Given the description of an element on the screen output the (x, y) to click on. 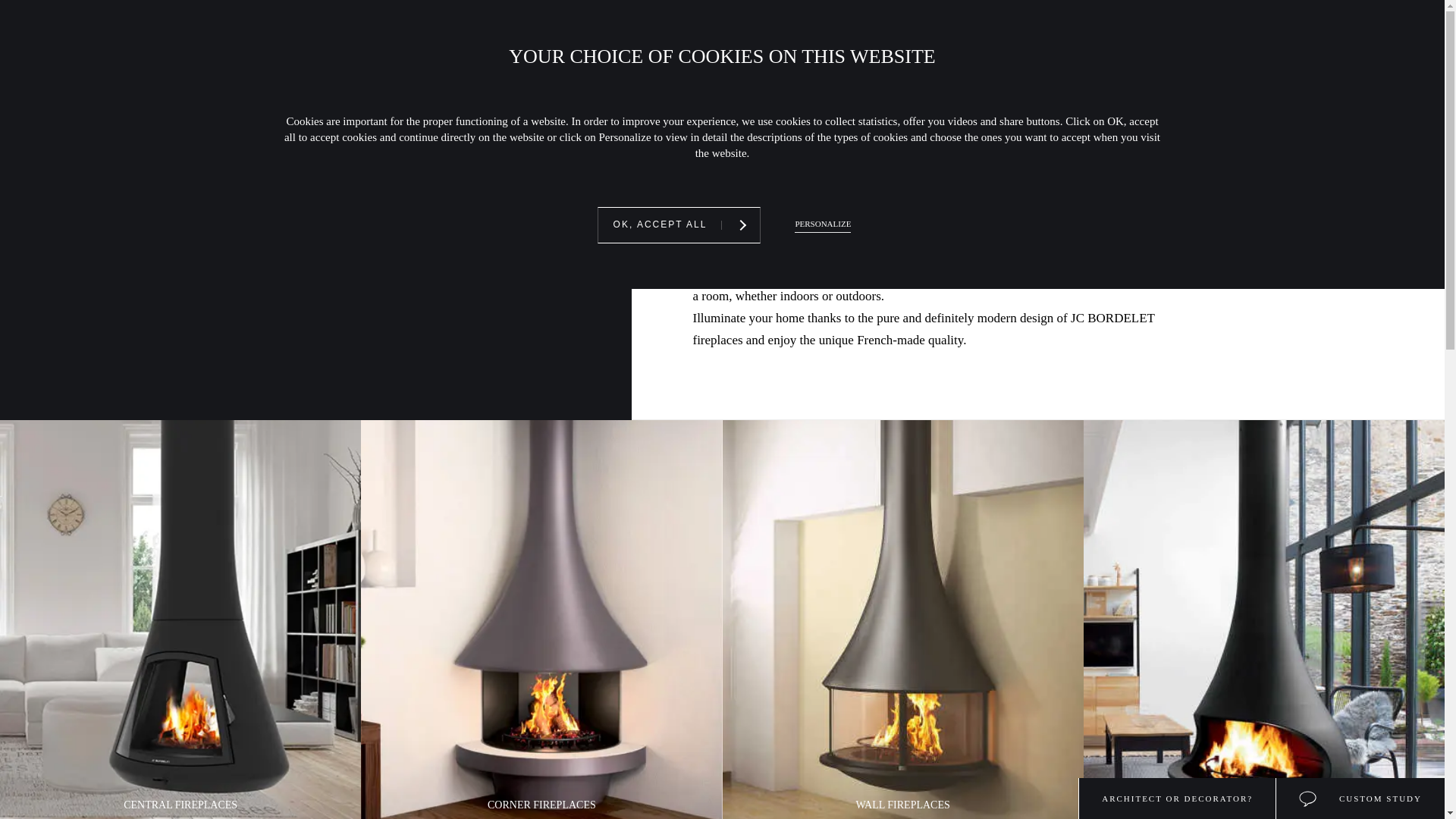
Discover our products (271, 93)
JC Bordelet (721, 46)
home (199, 93)
EN (142, 37)
Architect or decorator? (1176, 798)
